Given the description of an element on the screen output the (x, y) to click on. 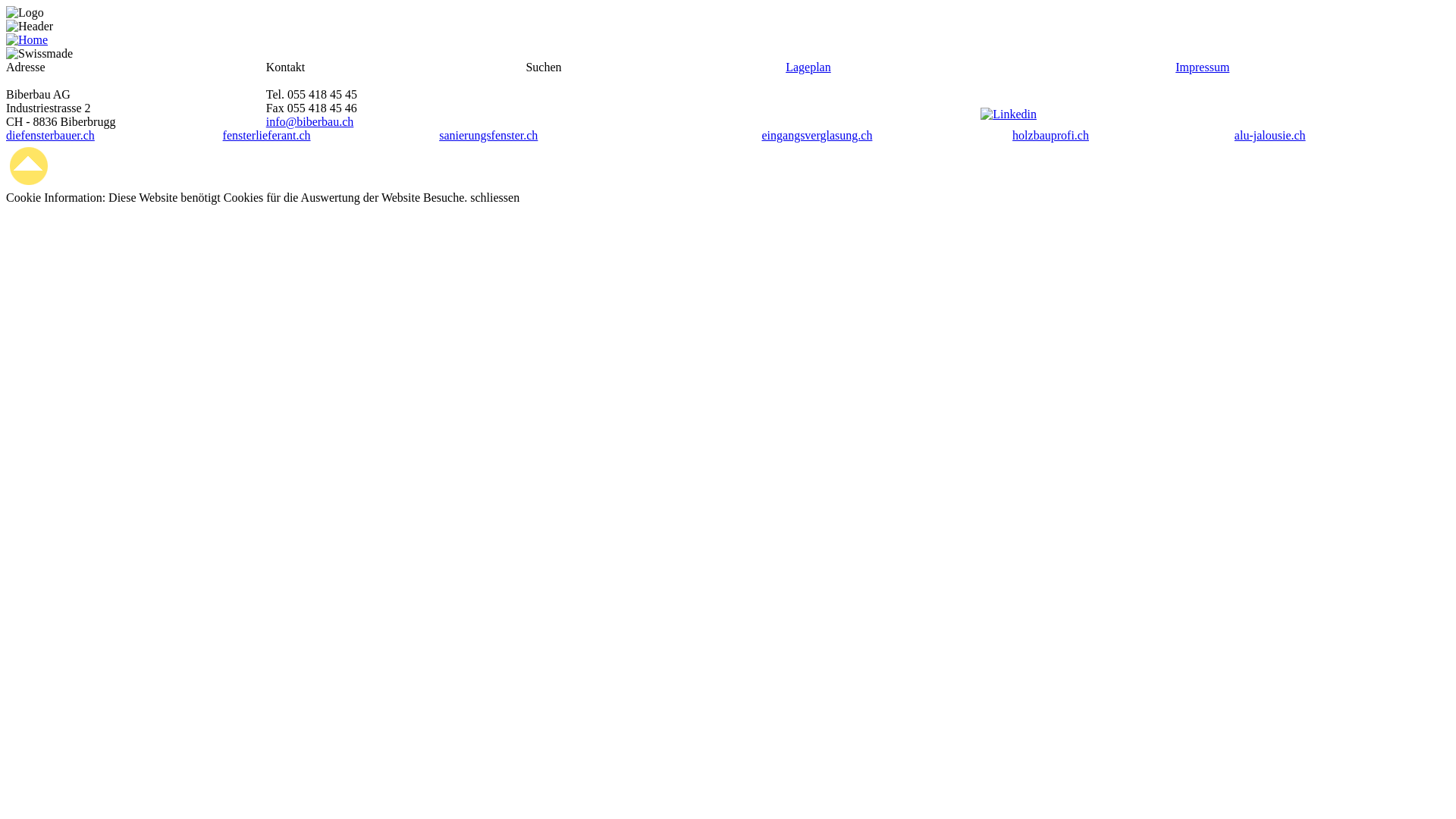
fensterlieferant.ch Element type: text (266, 134)
sanierungsfenster.ch Element type: text (488, 134)
Impressum Element type: text (1202, 66)
Lageplan Element type: text (808, 66)
eingangsverglasung.ch Element type: text (816, 134)
diefensterbauer.ch Element type: text (50, 134)
Home Element type: text (26, 39)
info@biberbau.ch Element type: text (310, 121)
Home Element type: hover (26, 40)
holzbauprofi.ch Element type: text (1050, 134)
alu-jalousie.ch Element type: text (1269, 134)
